Given the description of an element on the screen output the (x, y) to click on. 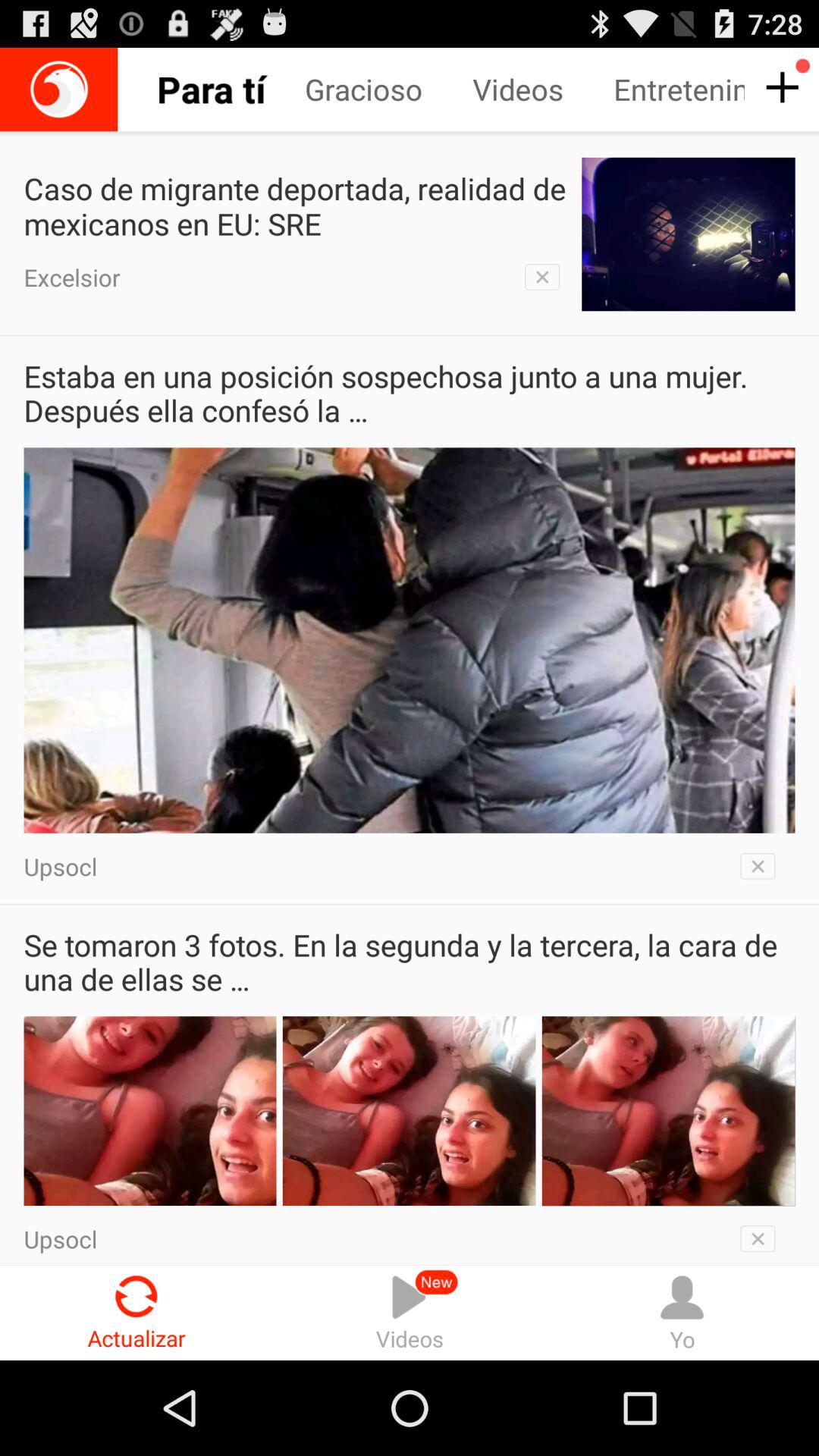
jump until actualizar (136, 1312)
